Given the description of an element on the screen output the (x, y) to click on. 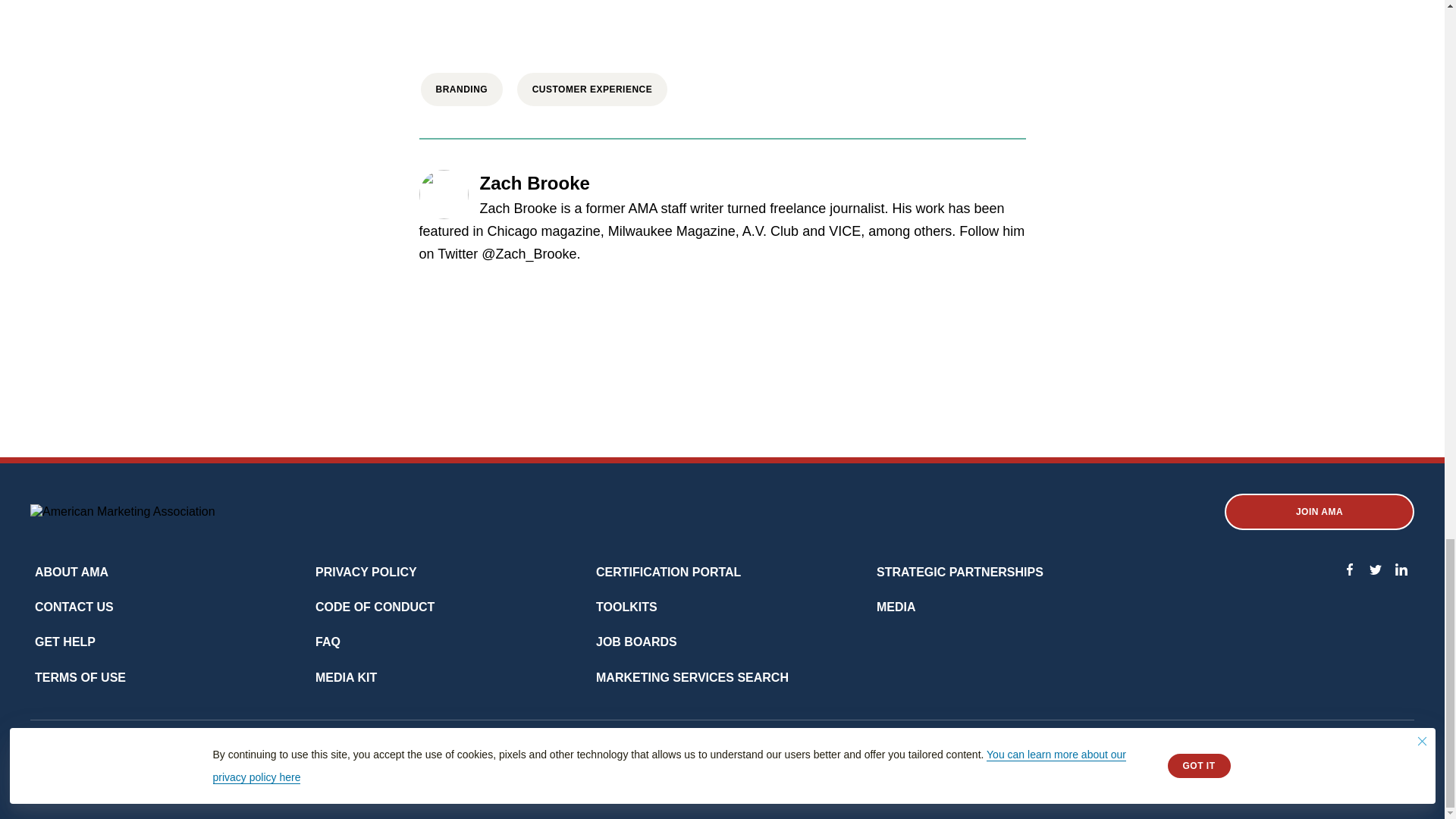
BRANDING (461, 89)
Zach Brooke (534, 185)
CUSTOMER EXPERIENCE (592, 89)
